Given the description of an element on the screen output the (x, y) to click on. 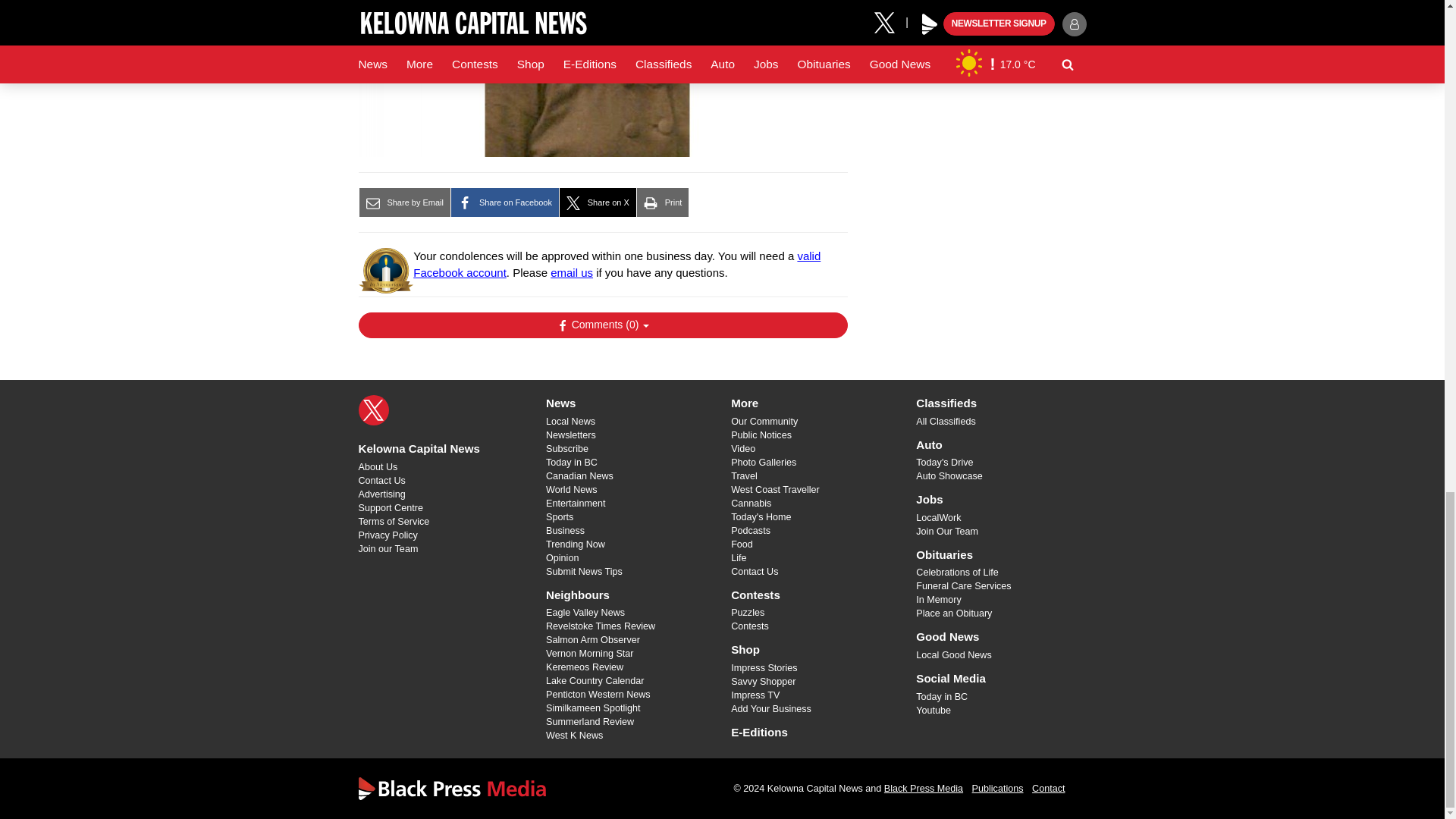
X (373, 409)
Show Comments (602, 325)
